Given the description of an element on the screen output the (x, y) to click on. 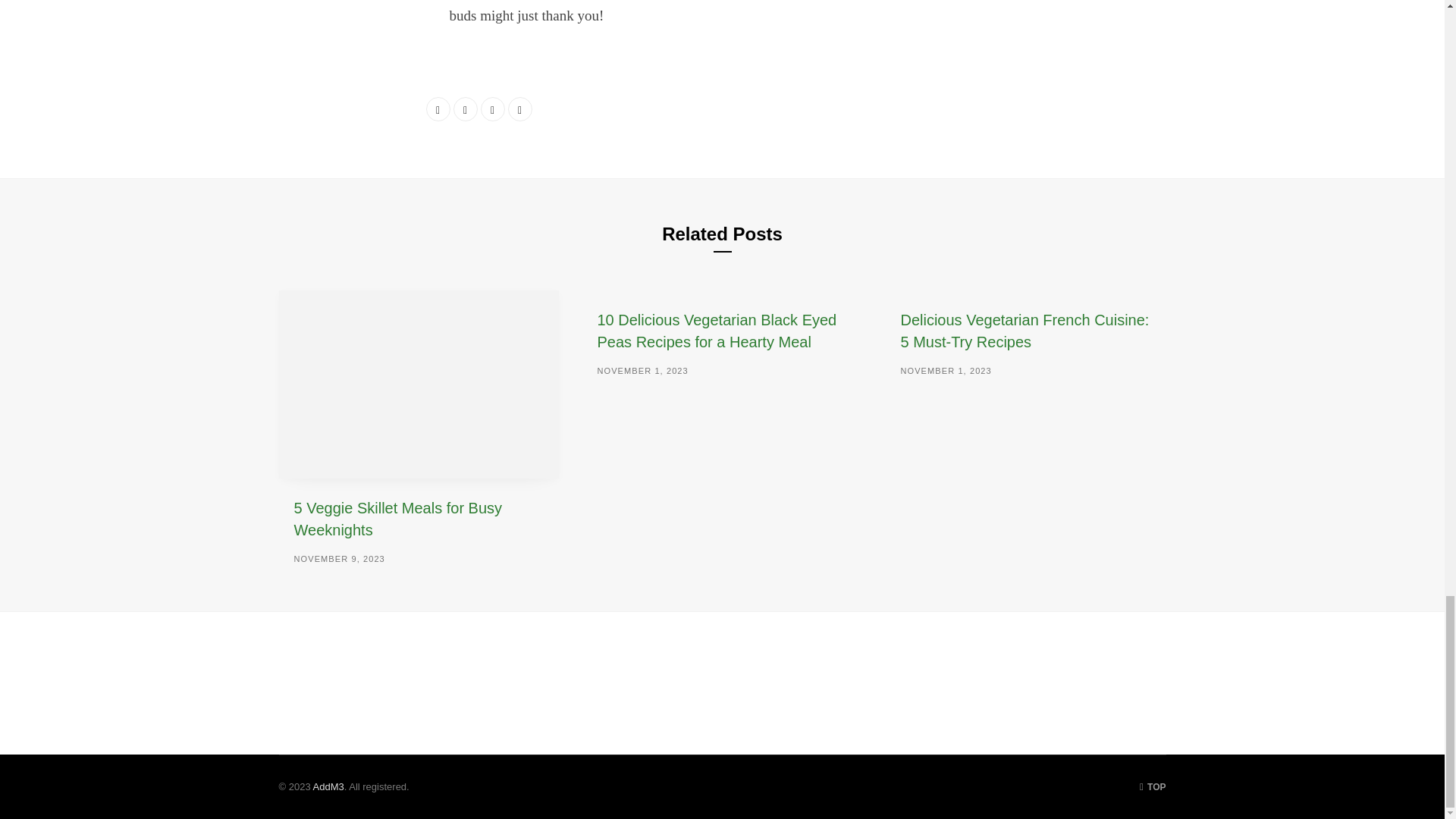
5 Veggie Skillet Meals for Busy Weeknights (398, 518)
5 Veggie Skillet Meals for Busy Weeknights (419, 383)
Pinterest (520, 109)
TOP (1153, 786)
LinkedIn (492, 109)
AddM3 (328, 786)
Delicious Vegetarian French Cuisine: 5 Must-Try Recipes (1023, 331)
Share on Facebook (437, 109)
Share on Twitter (464, 109)
